Given the description of an element on the screen output the (x, y) to click on. 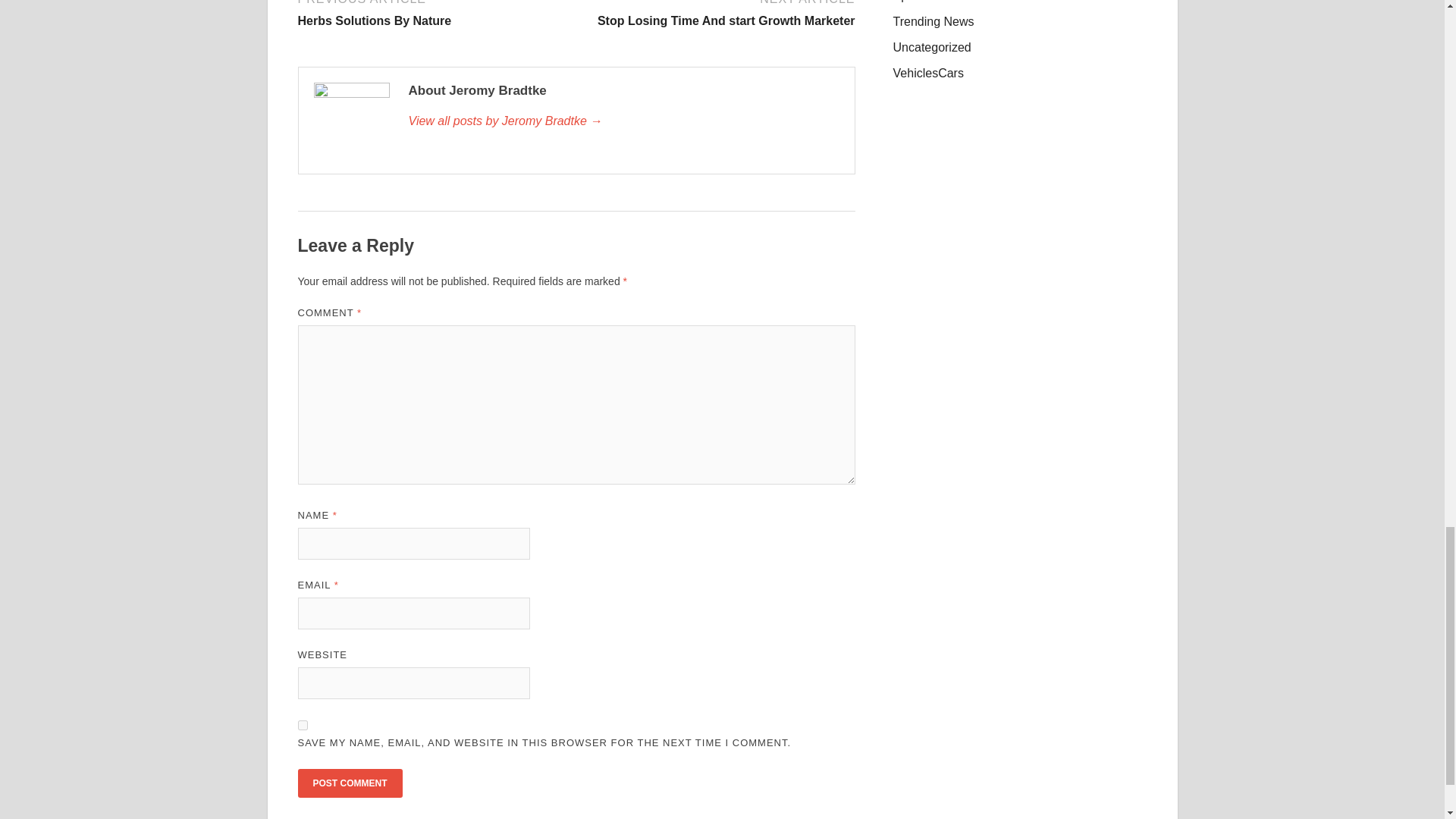
Jeromy Bradtke (622, 121)
Post Comment (349, 783)
yes (434, 13)
Post Comment (302, 725)
